Given the description of an element on the screen output the (x, y) to click on. 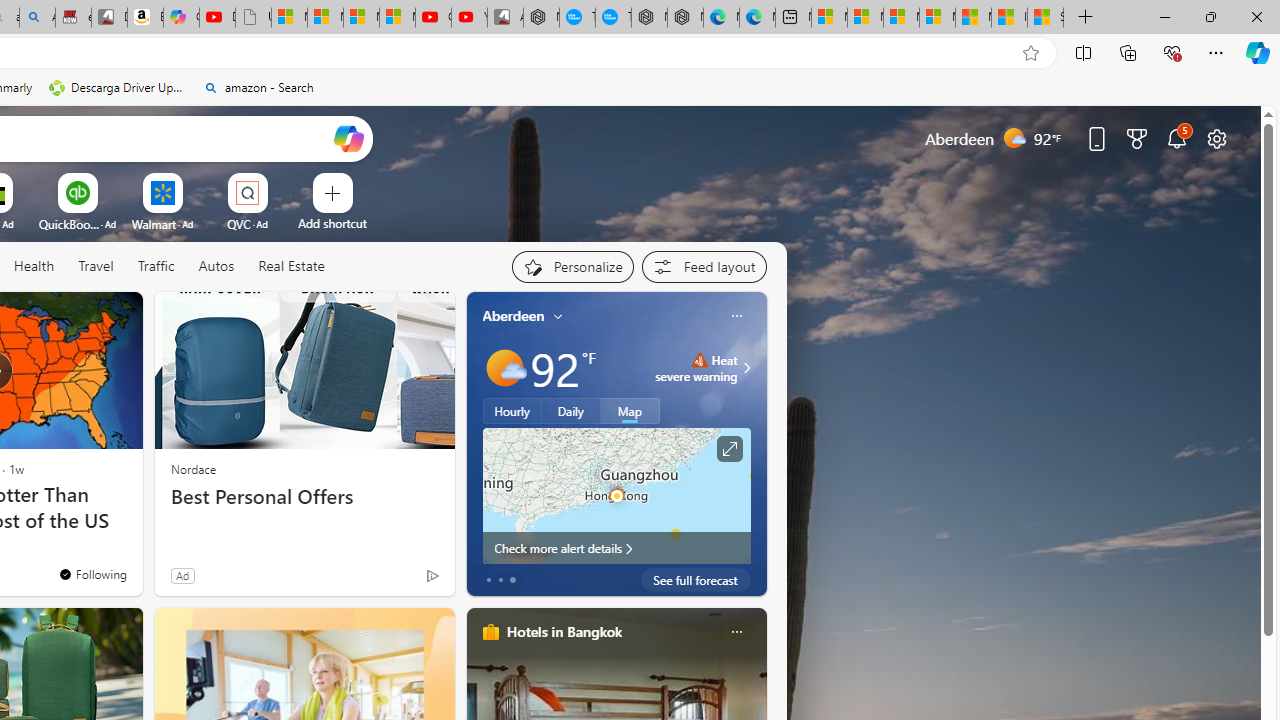
You're following The Weather Channel (92, 573)
Aberdeen (513, 315)
Ad Choice (432, 575)
Hourly (511, 411)
Microsoft rewards (1137, 138)
Hotels in Bangkok (563, 631)
Best Personal Offers (304, 497)
I Gained 20 Pounds of Muscle in 30 Days! | Watch (1009, 17)
Browser essentials (1171, 52)
Daily (571, 411)
Microsoft account | Privacy (937, 17)
Nordace (193, 468)
Restore (1210, 16)
Mostly sunny (504, 368)
